Given the description of an element on the screen output the (x, y) to click on. 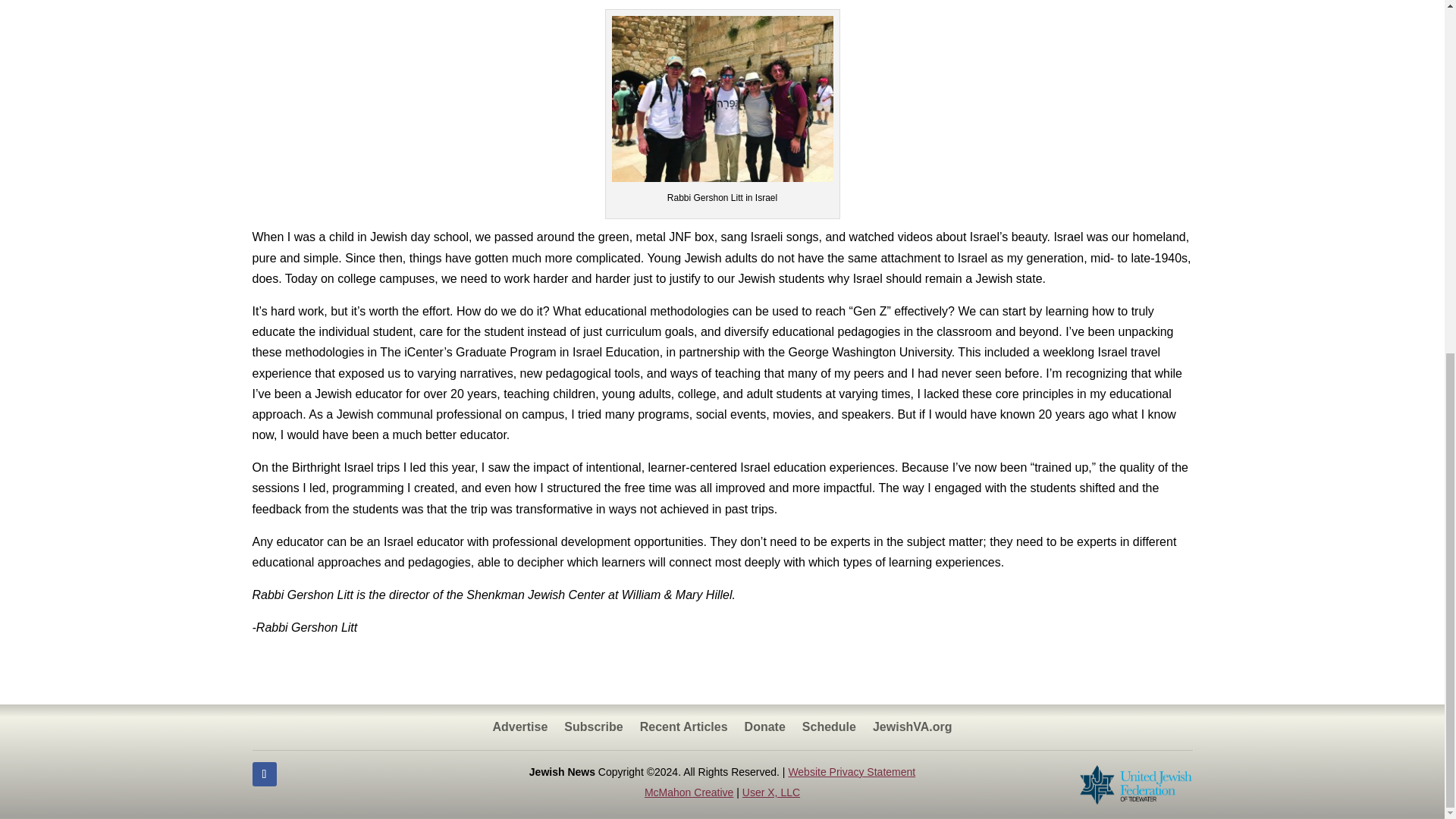
Follow on Facebook (263, 774)
Litt in Israel (721, 98)
